Given the description of an element on the screen output the (x, y) to click on. 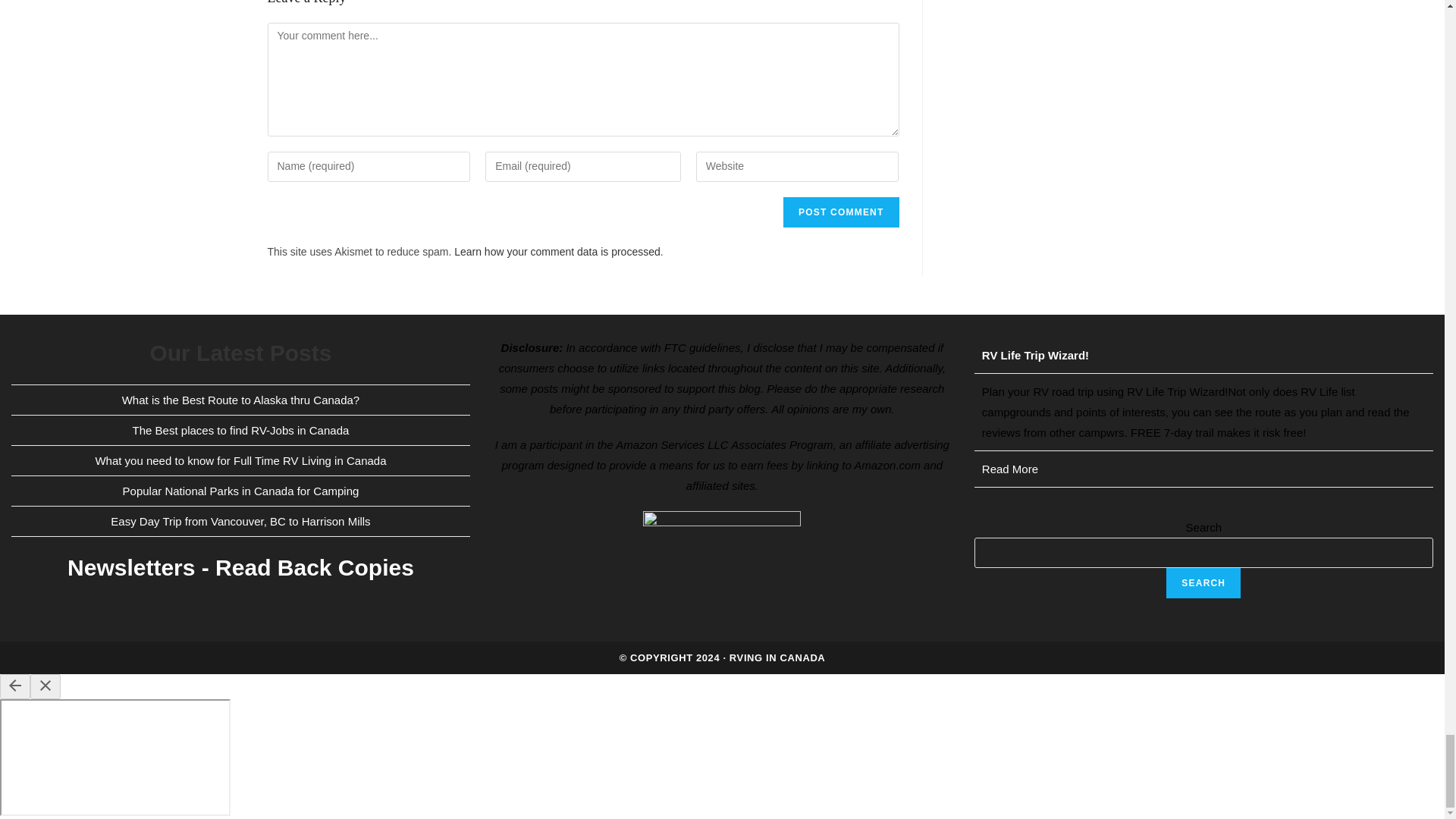
Post Comment (840, 212)
